Given the description of an element on the screen output the (x, y) to click on. 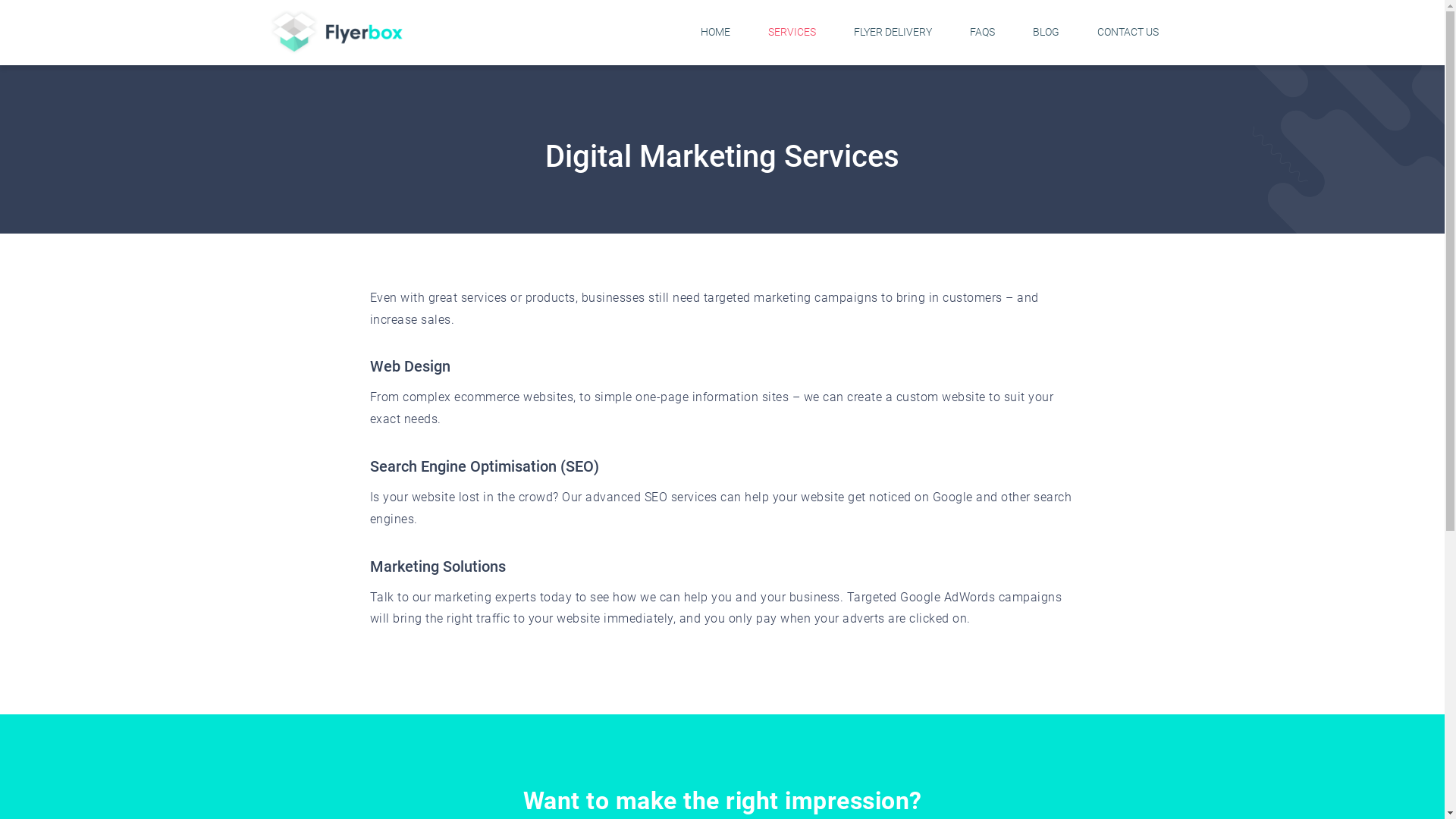
HOME Element type: text (715, 32)
FLYER DELIVERY Element type: text (892, 32)
BLOG Element type: text (1045, 32)
CONTACT US Element type: text (1126, 32)
Flyerbox Element type: hover (334, 32)
SERVICES Element type: text (790, 32)
FAQS Element type: text (981, 32)
